Given the description of an element on the screen output the (x, y) to click on. 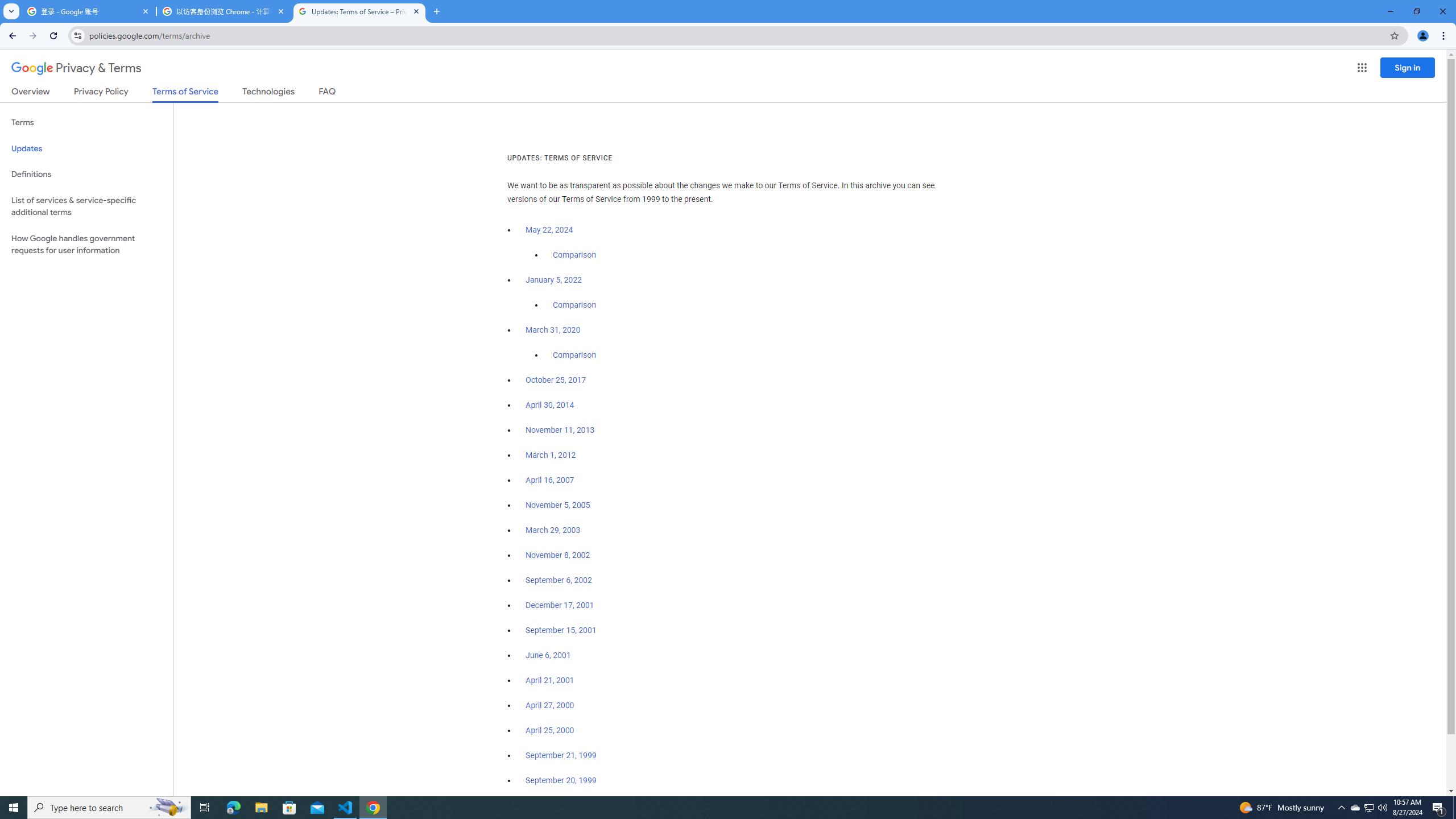
November 11, 2013 (560, 430)
April 16, 2007 (550, 480)
November 8, 2002 (557, 555)
How Google handles government requests for user information (86, 244)
List of services & service-specific additional terms (86, 206)
December 17, 2001 (559, 605)
